Given the description of an element on the screen output the (x, y) to click on. 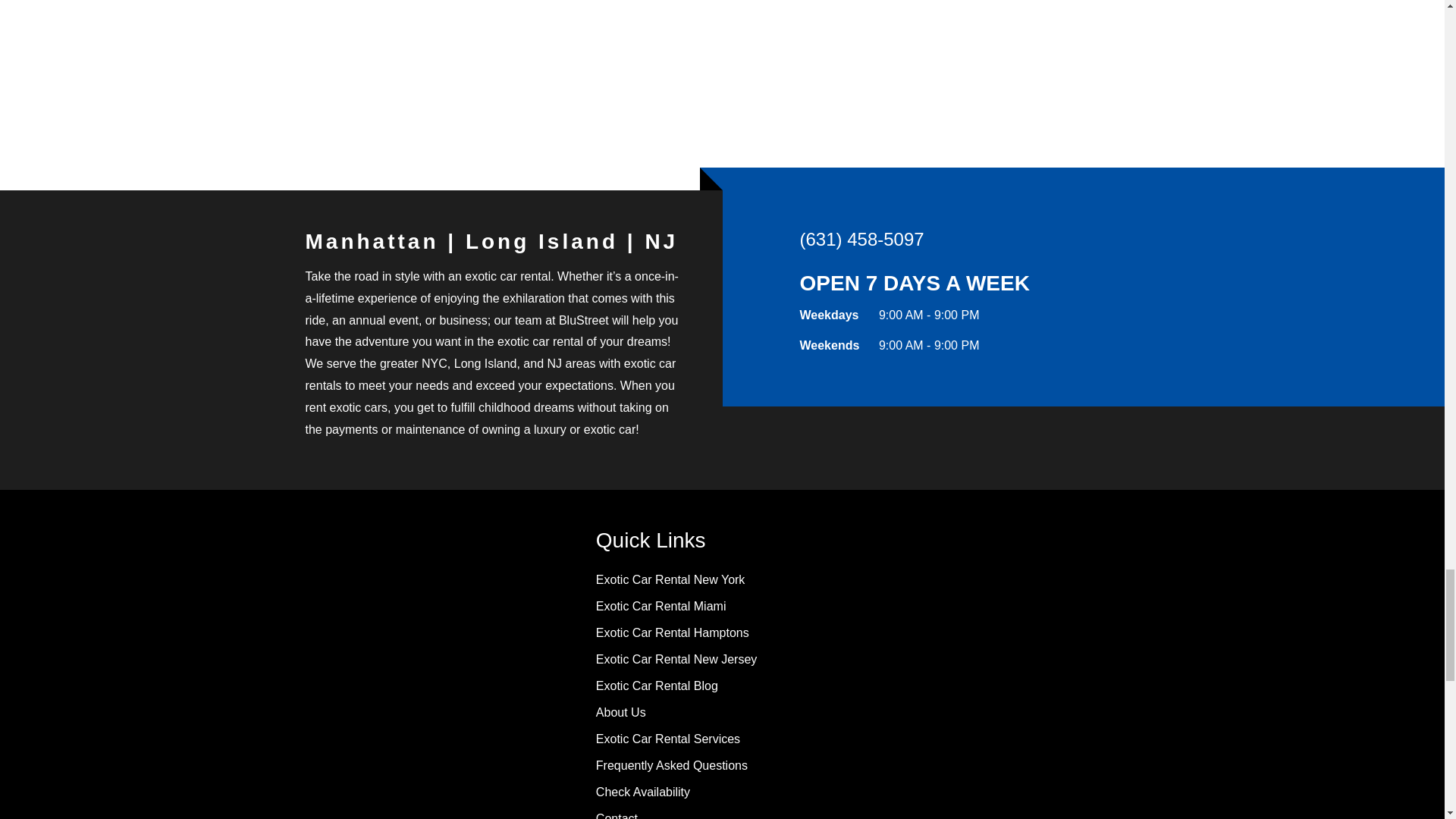
Exotic Car Rental New Jersey (676, 658)
Exotic Car Rental Miami (660, 605)
Frequently Asked Questions (671, 765)
Exotic Car Rental Services (667, 738)
Check Availability (642, 791)
Exotic Car Rental Miami (660, 605)
Exotic Car Rental Blog (656, 685)
Exotic Car Rental New York (670, 579)
Exotic Car Rental Hamptons (672, 632)
Exotic Car Rental New Jersey (676, 658)
